Given the description of an element on the screen output the (x, y) to click on. 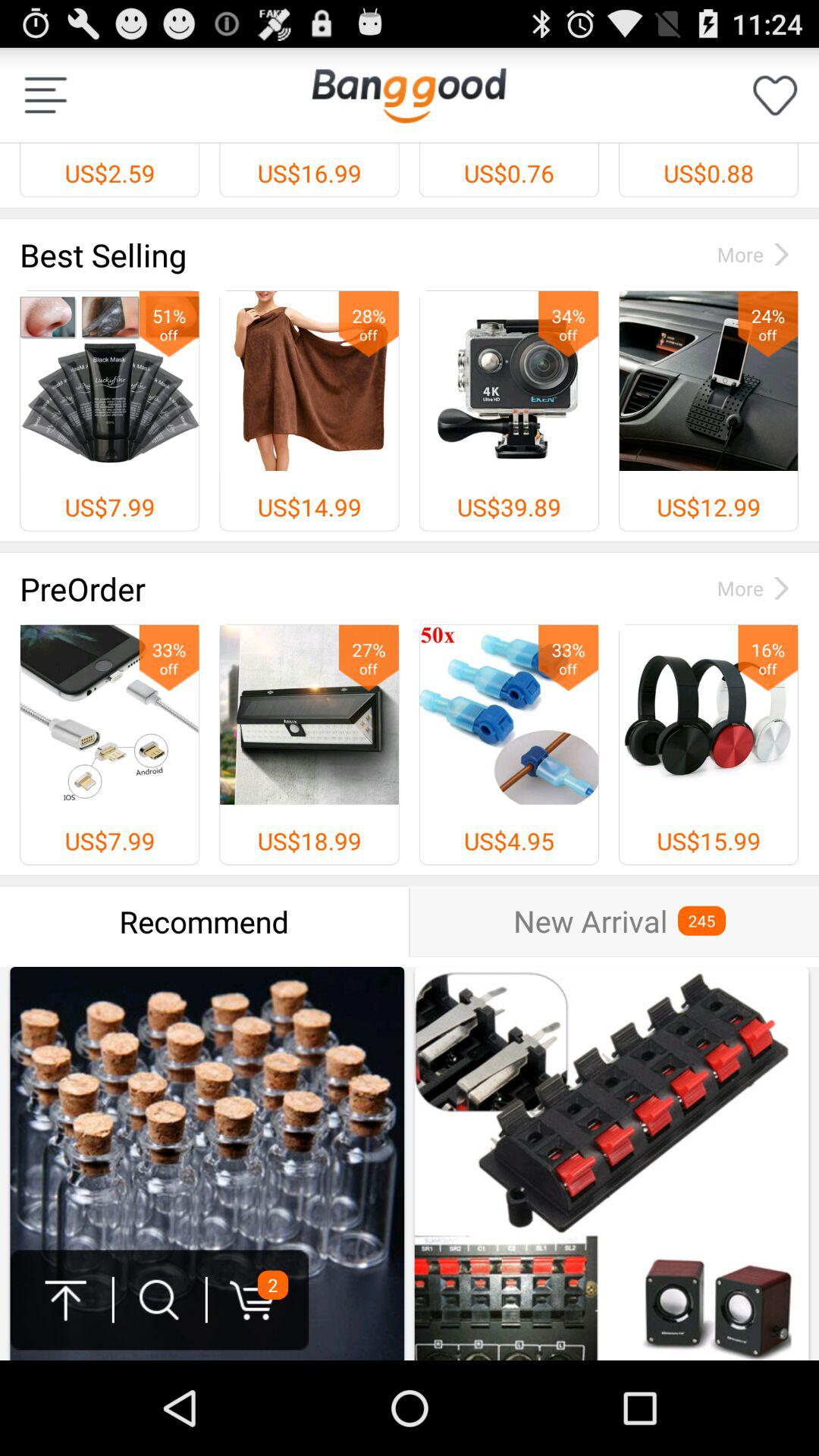
dock (45, 95)
